Given the description of an element on the screen output the (x, y) to click on. 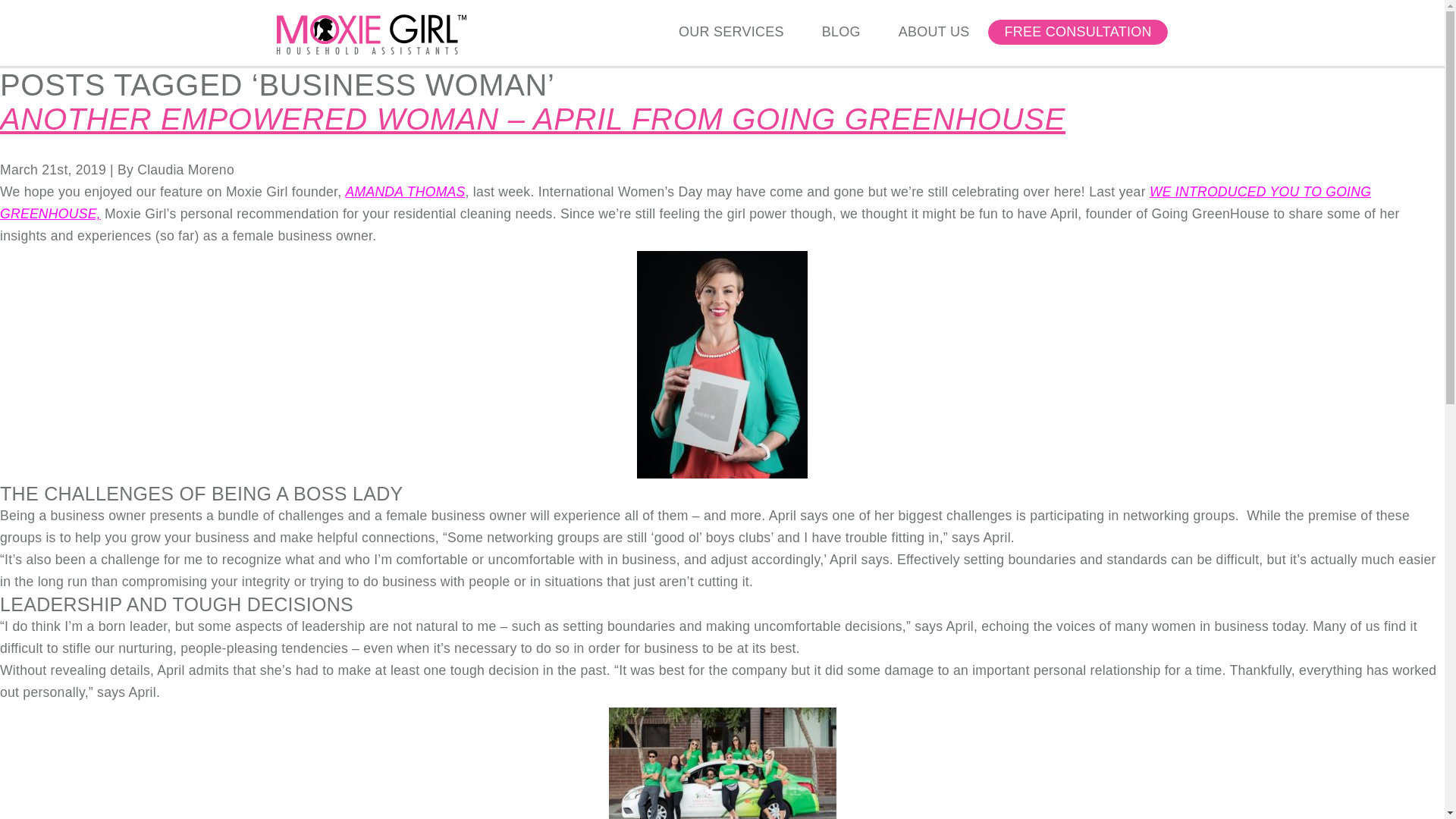
WE INTRODUCED YOU TO GOING GREENHOUSE, (685, 202)
ABOUT US (933, 31)
OUR SERVICES (731, 31)
MOXIE GIRL (380, 34)
FREE CONSULTATION (1077, 32)
AMANDA THOMAS (405, 191)
BLOG (841, 31)
